Given the description of an element on the screen output the (x, y) to click on. 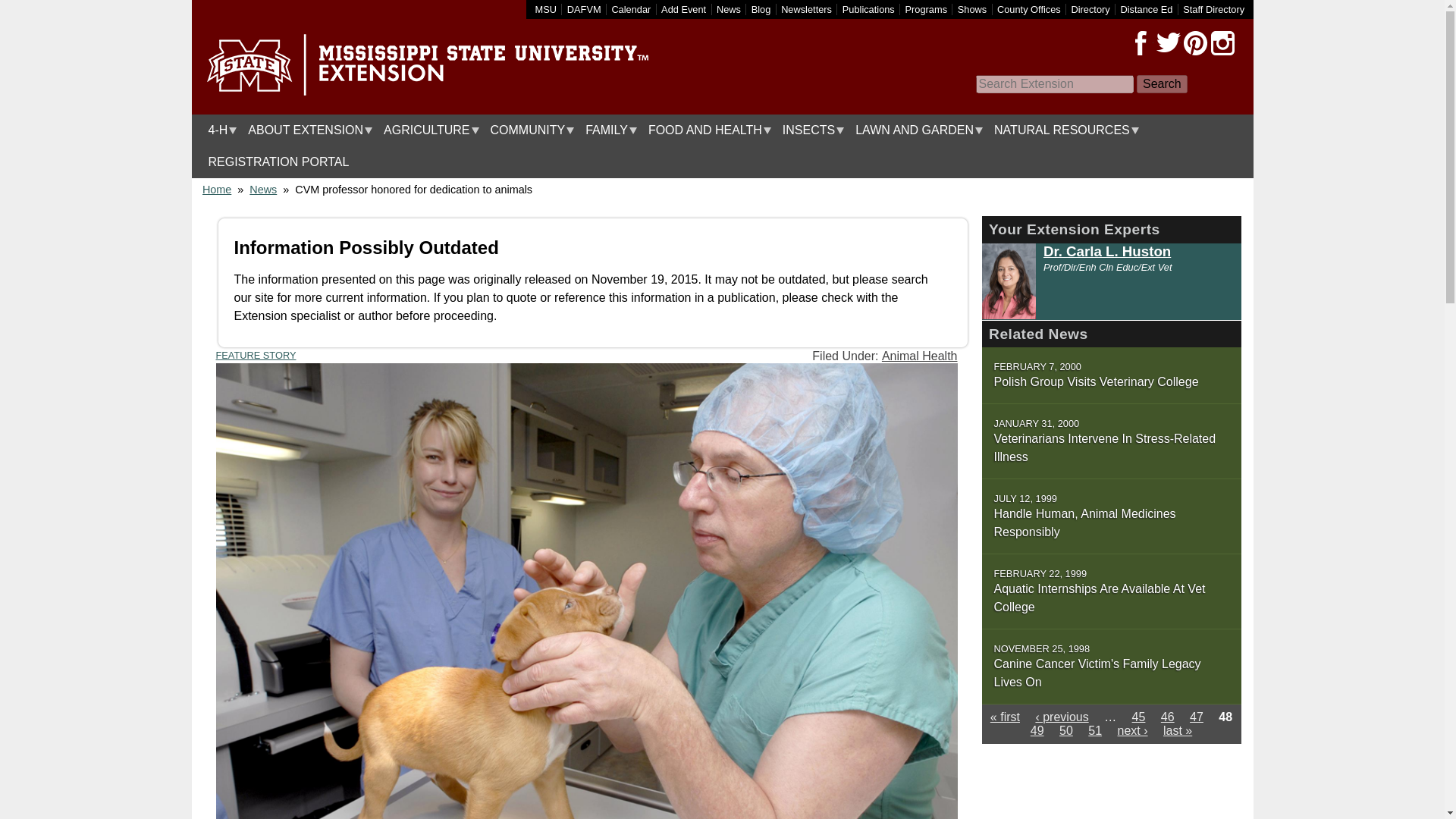
Shows (972, 9)
4-H (218, 130)
Pinterest (1194, 43)
Add Event (683, 9)
Instagram (1221, 43)
Distance Ed (1145, 9)
Directory (1089, 9)
News (728, 9)
Search (1162, 84)
DAFVM (584, 9)
Twitter (1167, 43)
The main event calendar for the MSU Extension Service (630, 9)
